Given the description of an element on the screen output the (x, y) to click on. 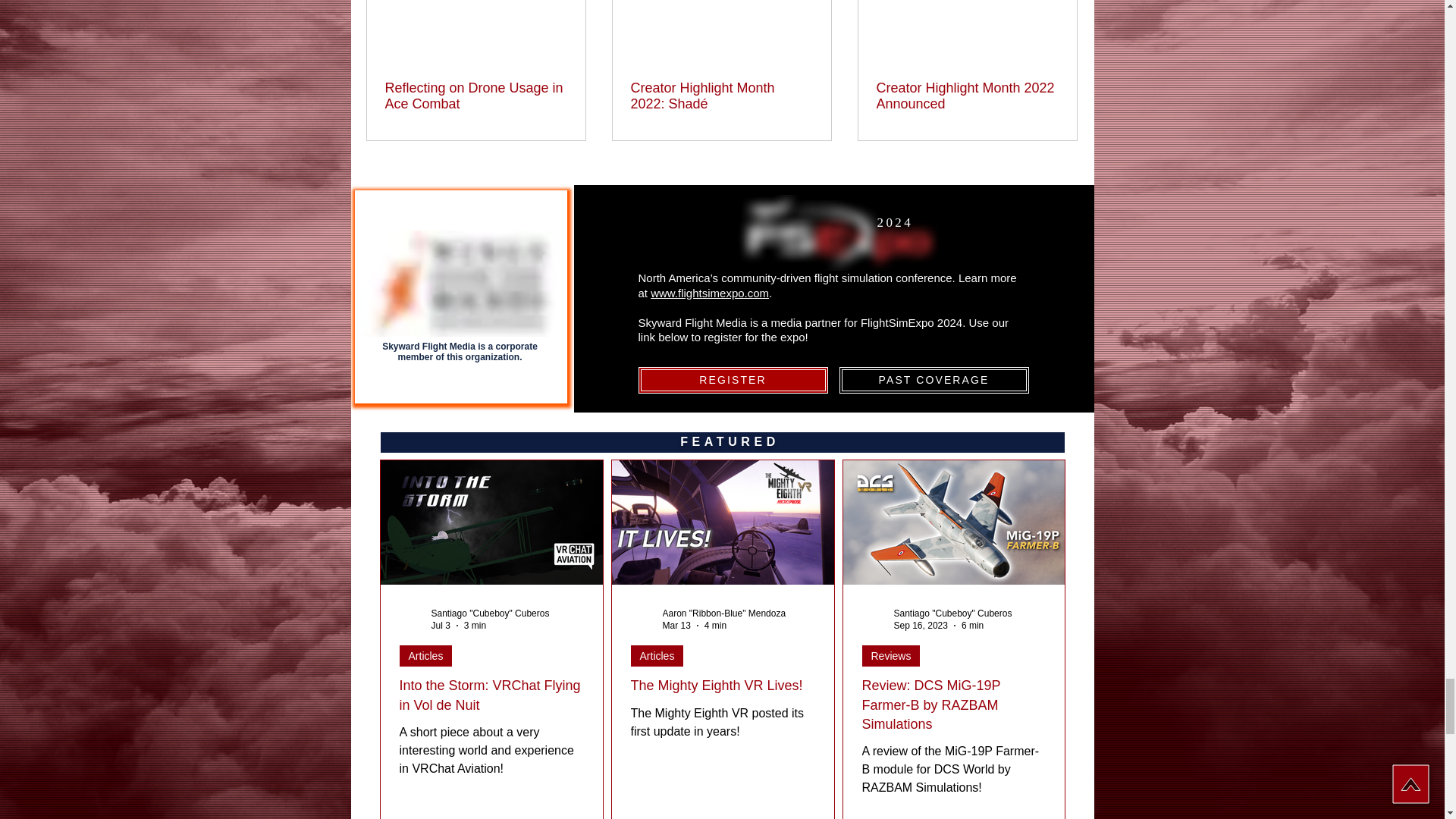
Sep 16, 2023 (920, 624)
Santiago "Cubeboy" Cuberos (489, 613)
3 min (475, 624)
Mar 13 (676, 624)
4 min (715, 624)
Jul 3 (439, 624)
Santiago "Cubeboy" Cuberos (952, 613)
6 min (972, 624)
Aaron "Ribbon-Blue" Mendoza (724, 613)
